Given the description of an element on the screen output the (x, y) to click on. 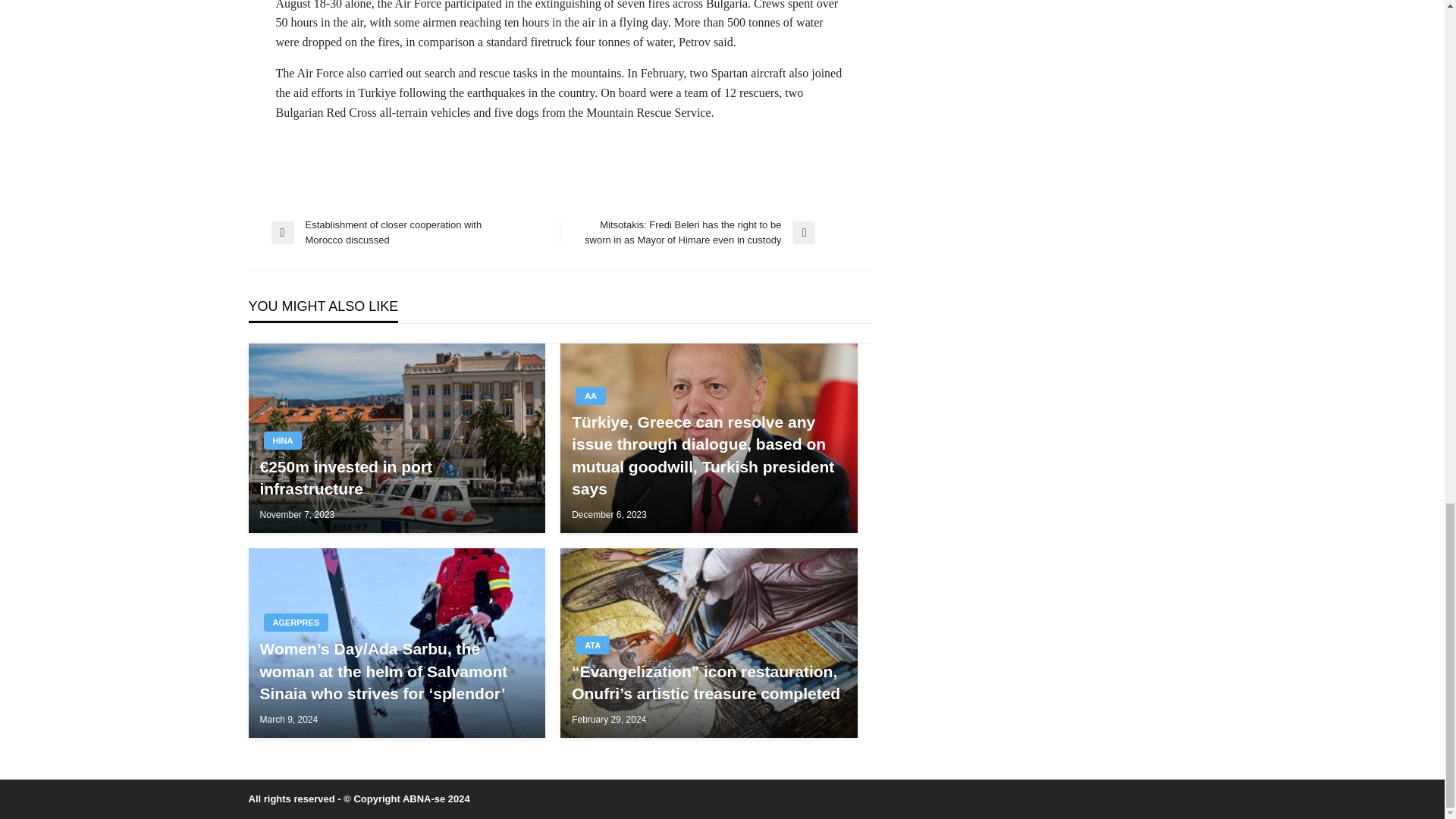
AA (590, 395)
HINA (282, 440)
